Given the description of an element on the screen output the (x, y) to click on. 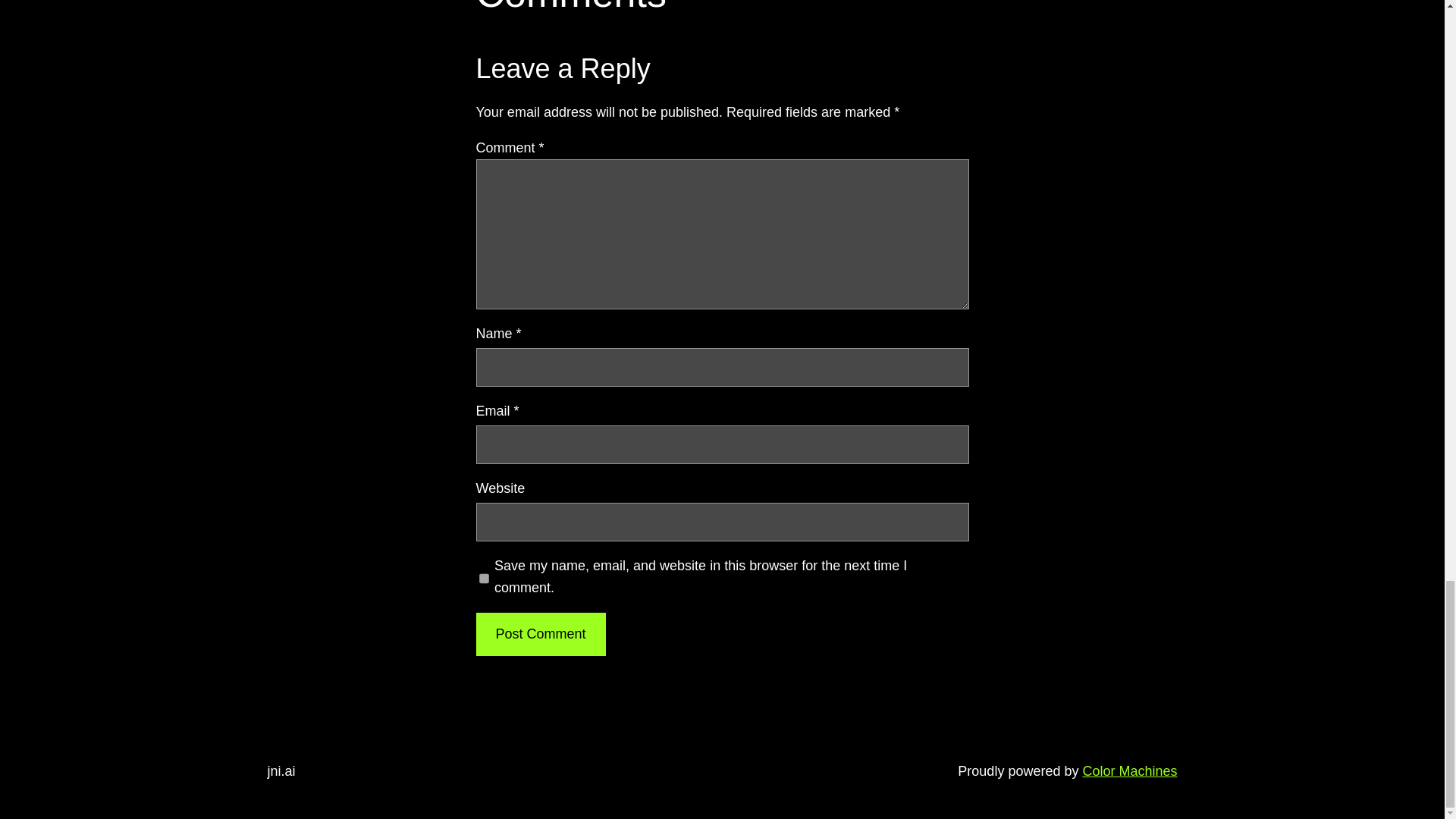
Post Comment (540, 634)
Color Machines (1128, 770)
jni.ai (280, 770)
Post Comment (540, 634)
